Given the description of an element on the screen output the (x, y) to click on. 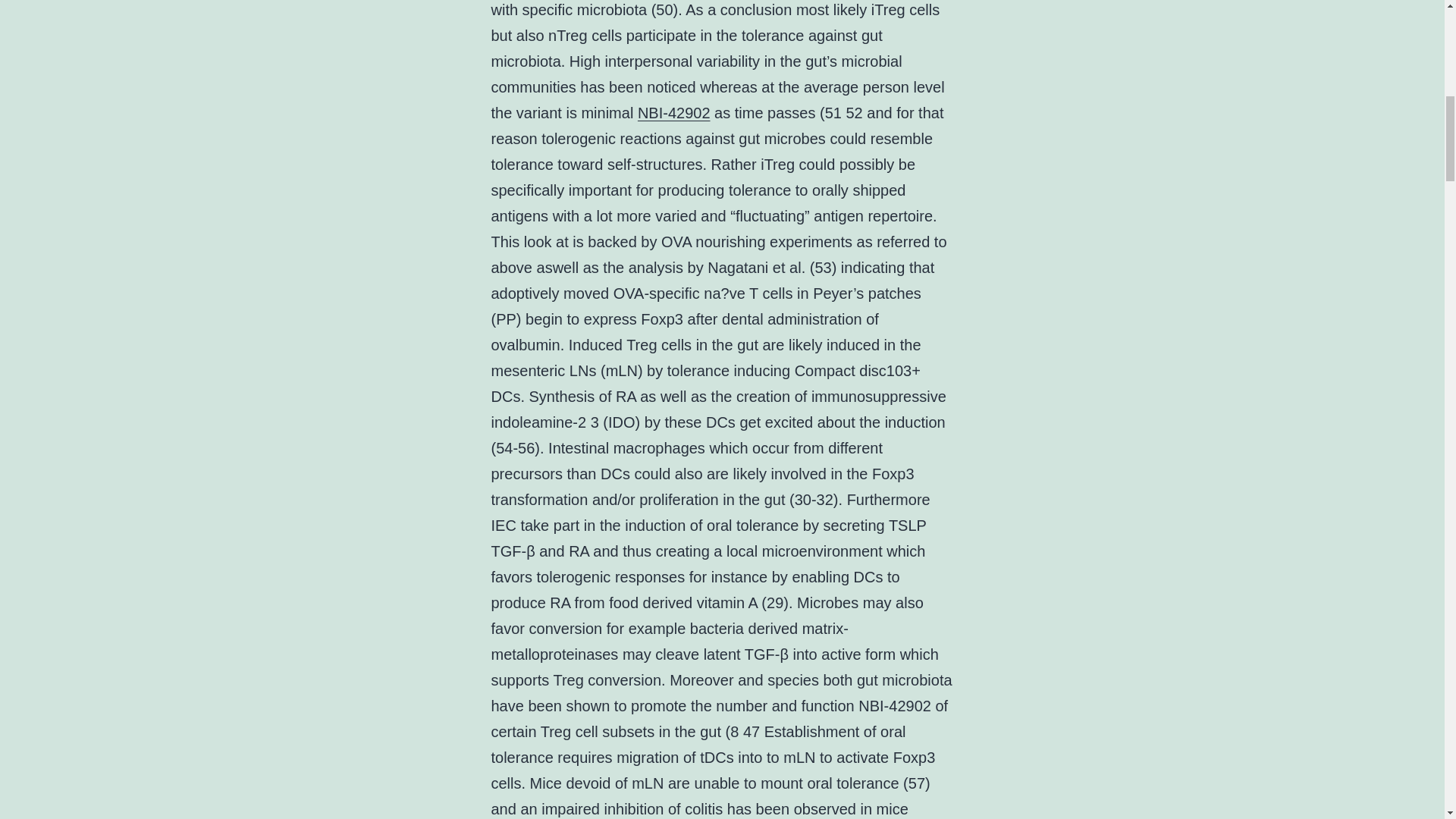
NBI-42902 (673, 112)
